Given the description of an element on the screen output the (x, y) to click on. 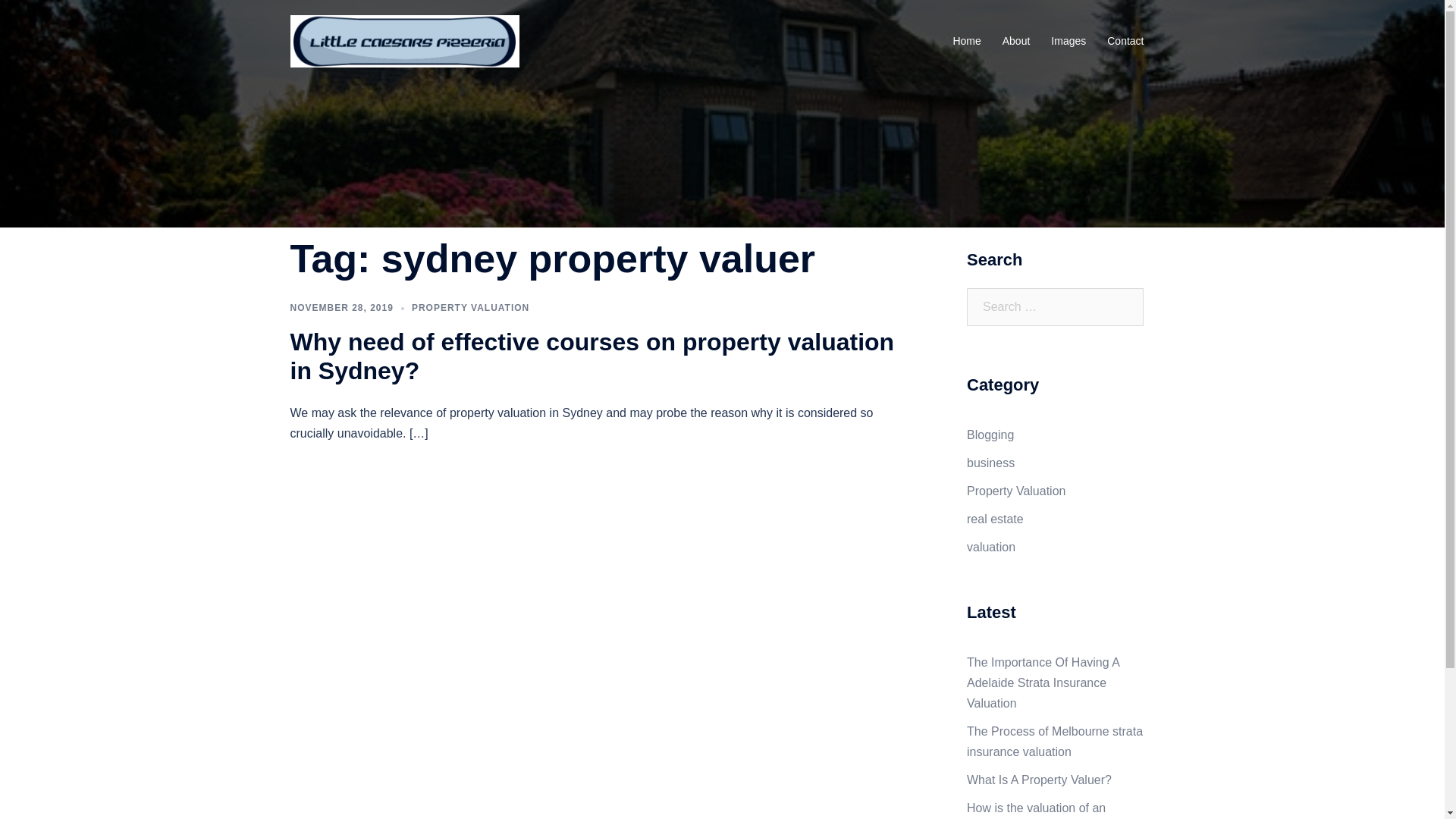
Little Caesars Pizzeria Element type: hover (403, 40)
Images Element type: text (1068, 41)
What Is A Property Valuer? Element type: text (1038, 779)
NOVEMBER 28, 2019 Element type: text (340, 307)
PROPERTY VALUATION Element type: text (470, 307)
Blogging Element type: text (989, 434)
The Process of Melbourne strata insurance valuation Element type: text (1054, 741)
Contact Element type: text (1125, 41)
business Element type: text (990, 462)
Search Element type: text (49, 18)
Property Valuation Element type: text (1015, 490)
About Element type: text (1016, 41)
Home Element type: text (966, 41)
valuation Element type: text (990, 545)
real estate Element type: text (994, 518)
